Given the description of an element on the screen output the (x, y) to click on. 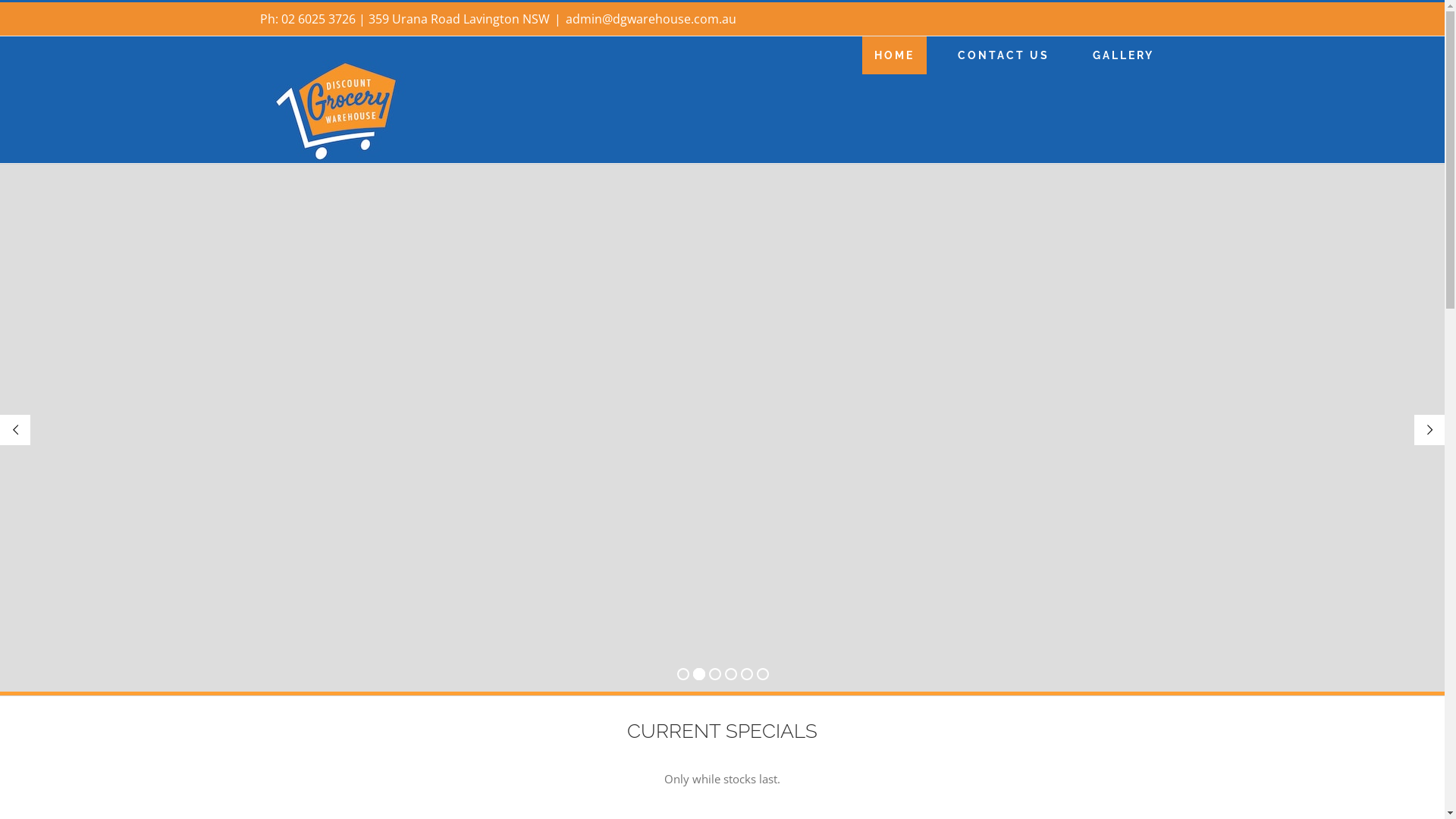
GALLERY Element type: text (1122, 55)
HOME Element type: text (893, 55)
admin@dgwarehouse.com.au Element type: text (650, 18)
CONTACT US Element type: text (1002, 55)
